Given the description of an element on the screen output the (x, y) to click on. 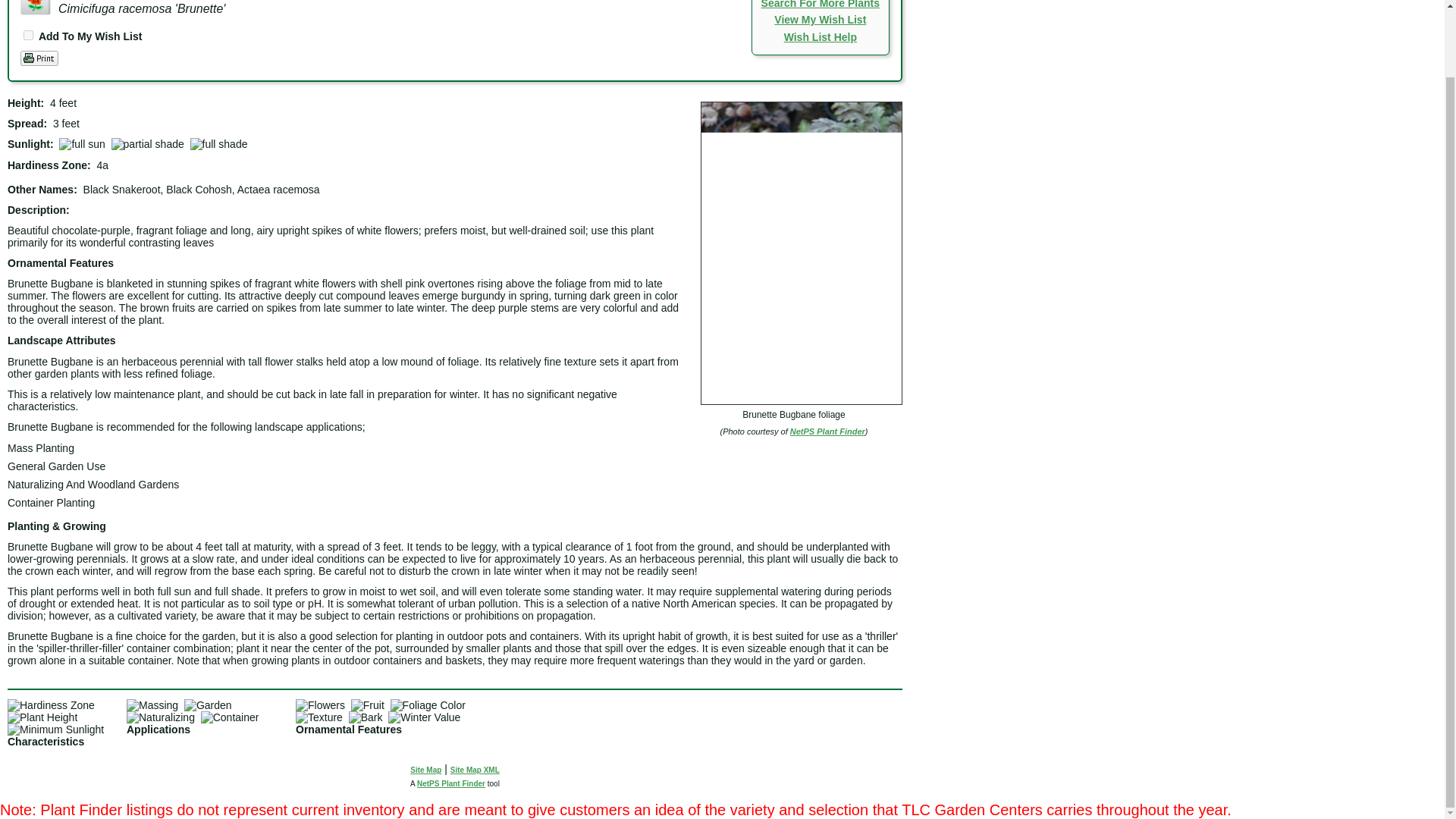
Site Map (425, 769)
Massing (151, 705)
Flowers (320, 705)
Wish List Help (820, 37)
True (28, 35)
Site Map XML (474, 769)
full shade (218, 143)
partial shade (148, 143)
Search For More Plants (820, 4)
print page (39, 58)
Fruit (367, 705)
Minimum Sunlight (55, 729)
Naturalizing (160, 717)
full sun (81, 143)
Container (229, 717)
